Given the description of an element on the screen output the (x, y) to click on. 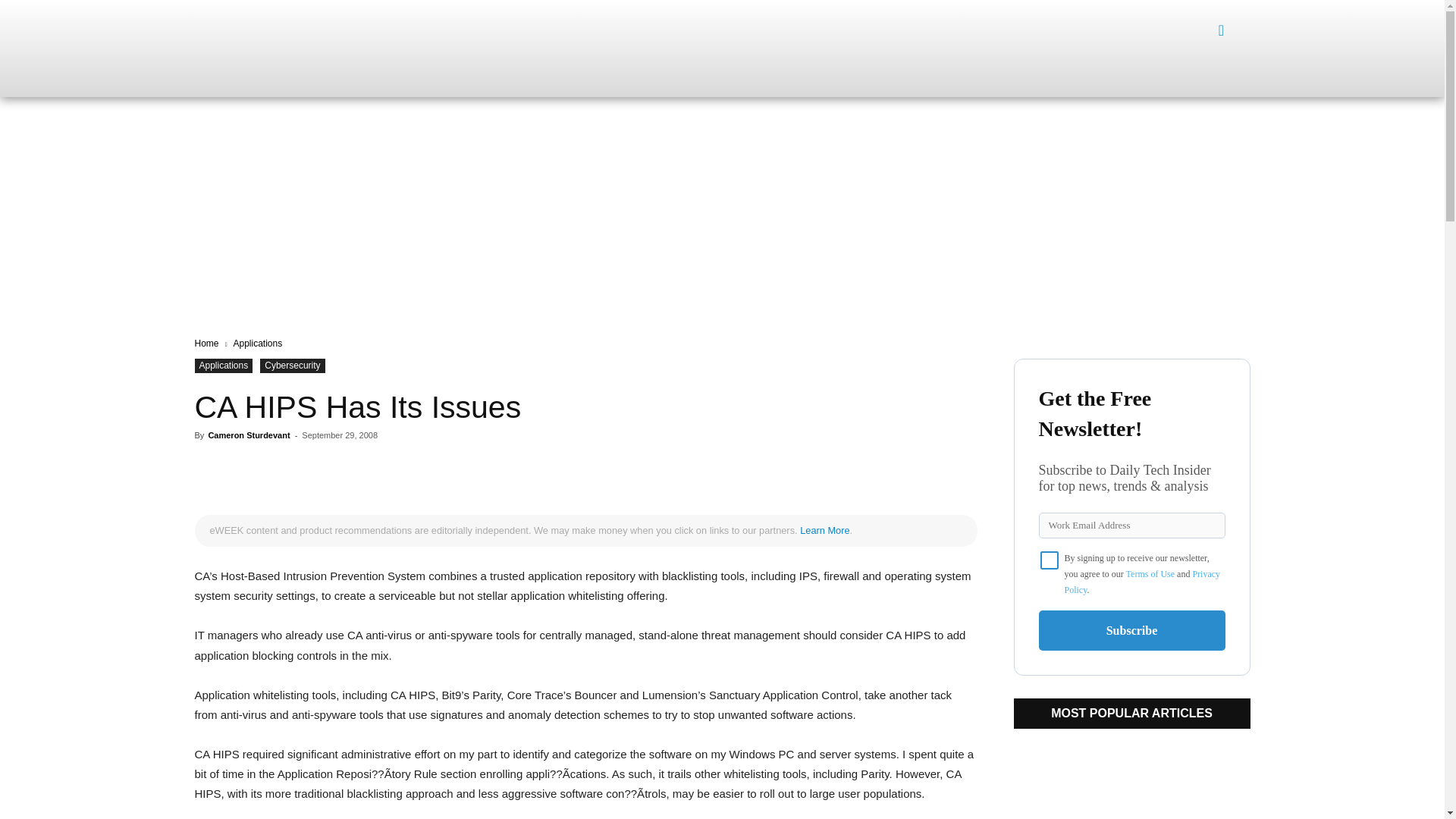
on (1049, 560)
